Given the description of an element on the screen output the (x, y) to click on. 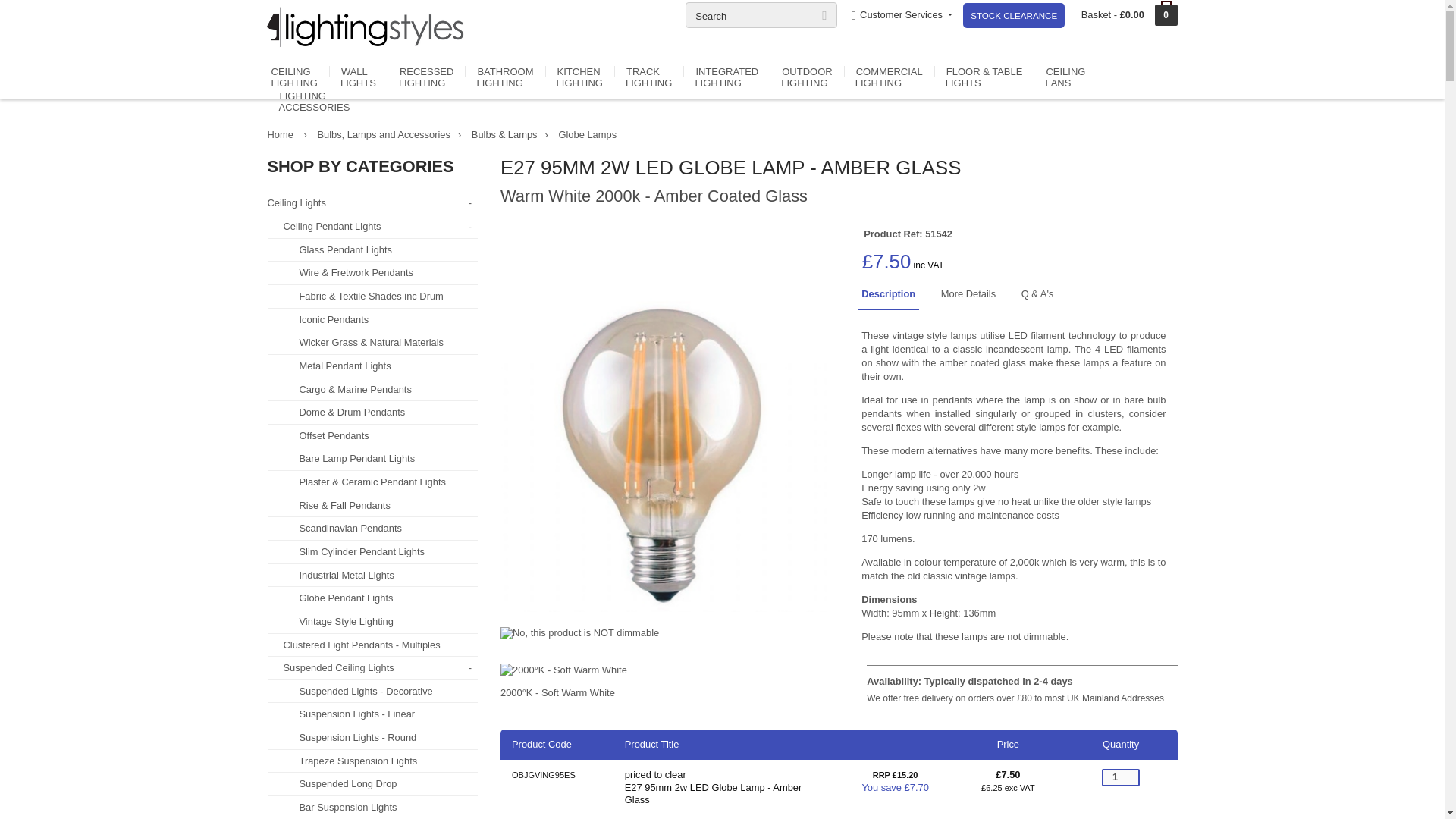
Search (761, 14)
Black Friday (1013, 15)
Often In stock, but this is a fast moving item (970, 681)
No, this product is NOT dimmable (579, 633)
1 (1121, 777)
